Given the description of an element on the screen output the (x, y) to click on. 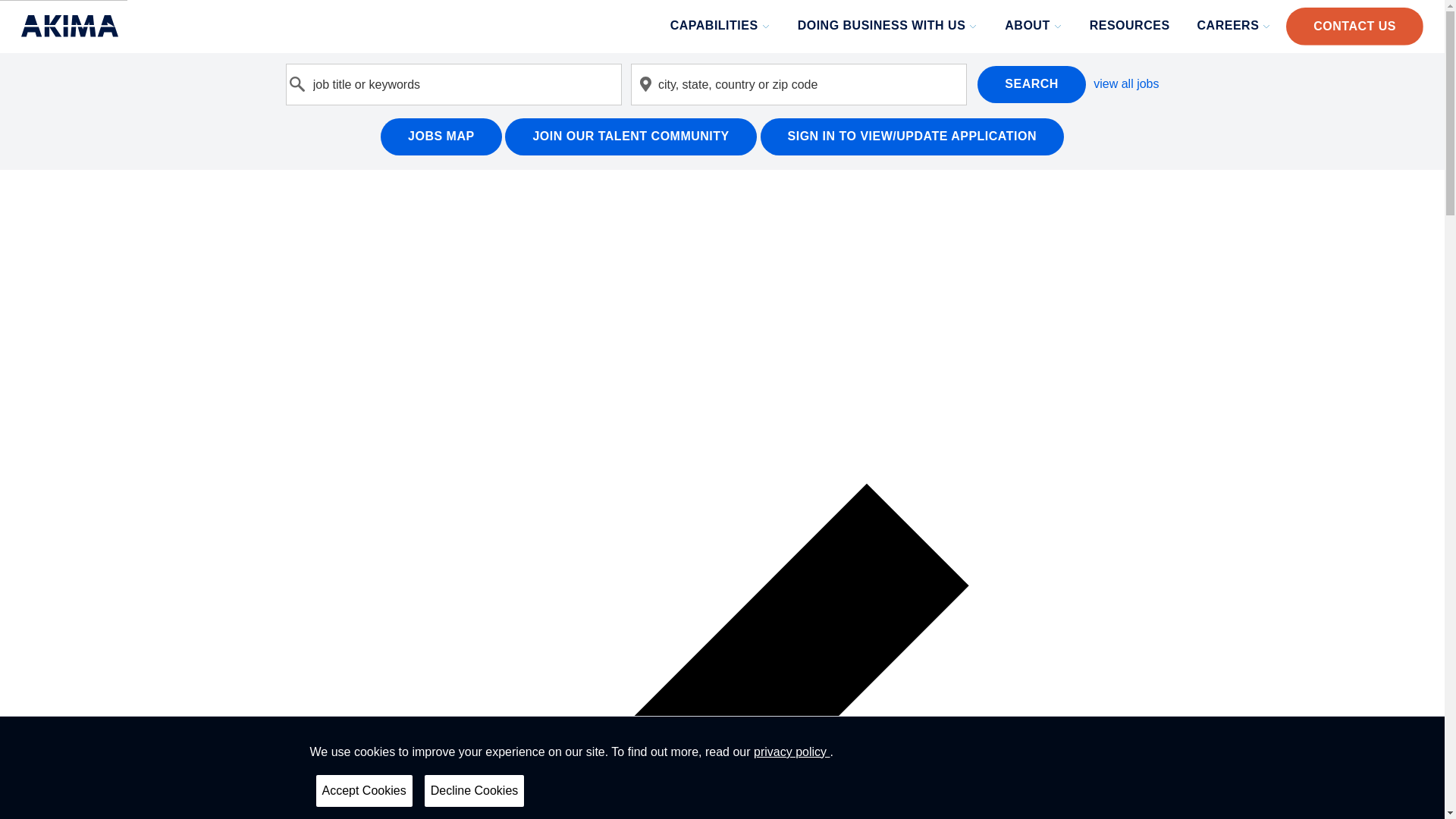
JOIN OUR TALENT COMMUNITY (630, 136)
view all jobs (1125, 83)
ABOUT (1034, 26)
CONTACT US (1354, 26)
privacy policy (791, 751)
RESOURCES (1131, 26)
CAPABILITIES (721, 26)
DOING BUSINESS WITH US (889, 26)
Decline Cookies (474, 790)
SEARCH (1031, 85)
JOBS MAP (441, 136)
CAREERS (1235, 26)
Accept Cookies (363, 790)
